Given the description of an element on the screen output the (x, y) to click on. 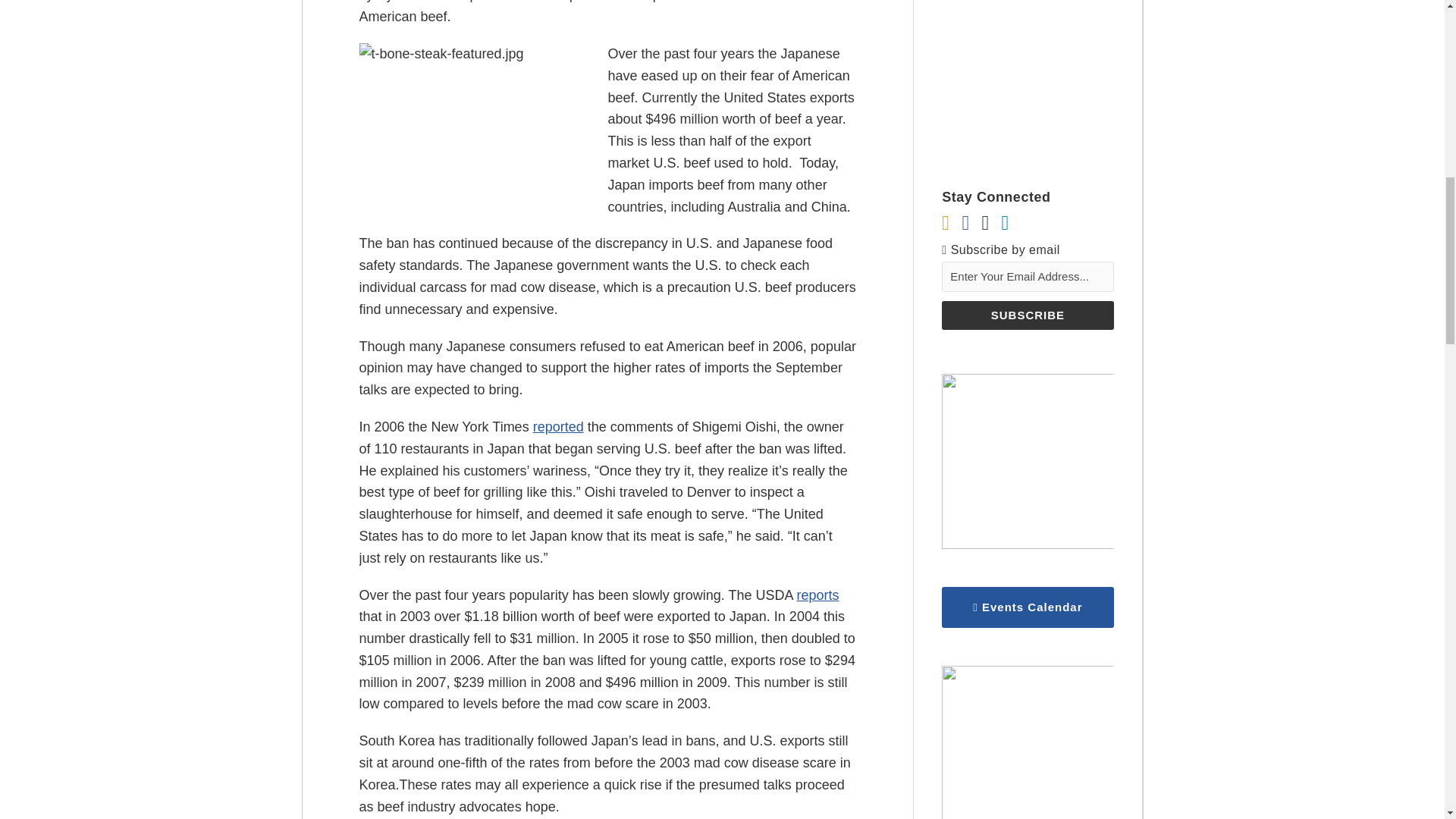
reports (817, 594)
Subscribe (1027, 315)
Subscribe (1027, 315)
Events Calendar (1027, 607)
reported (557, 426)
